Given the description of an element on the screen output the (x, y) to click on. 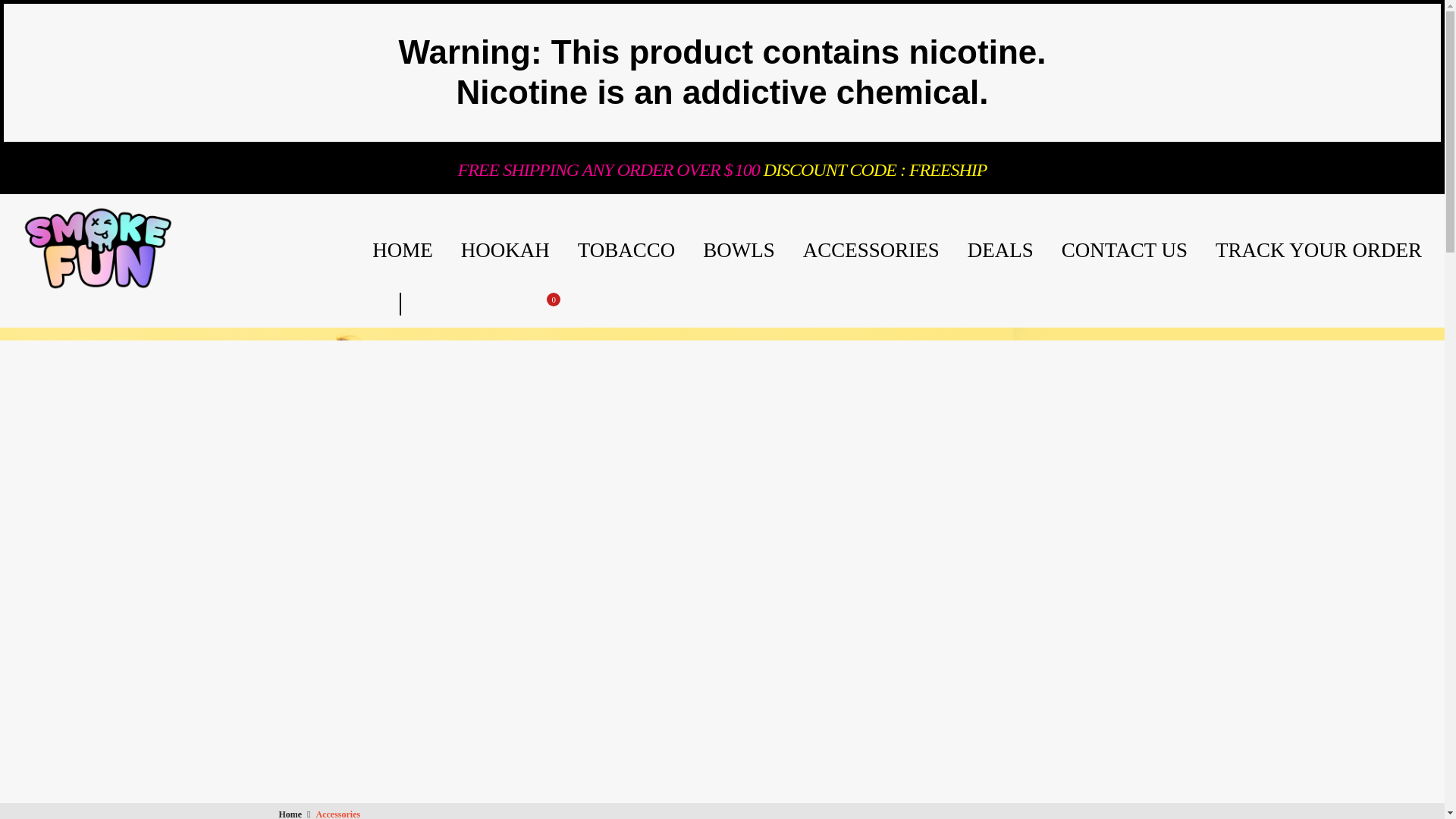
0 (545, 303)
HOOKAH (505, 250)
BOWLS (738, 250)
ACCESSORIES (871, 250)
TRACK YOUR ORDER (1318, 250)
DEALS (1000, 250)
CONTACT US (1124, 250)
HOME (402, 250)
TOBACCO (626, 250)
